Given the description of an element on the screen output the (x, y) to click on. 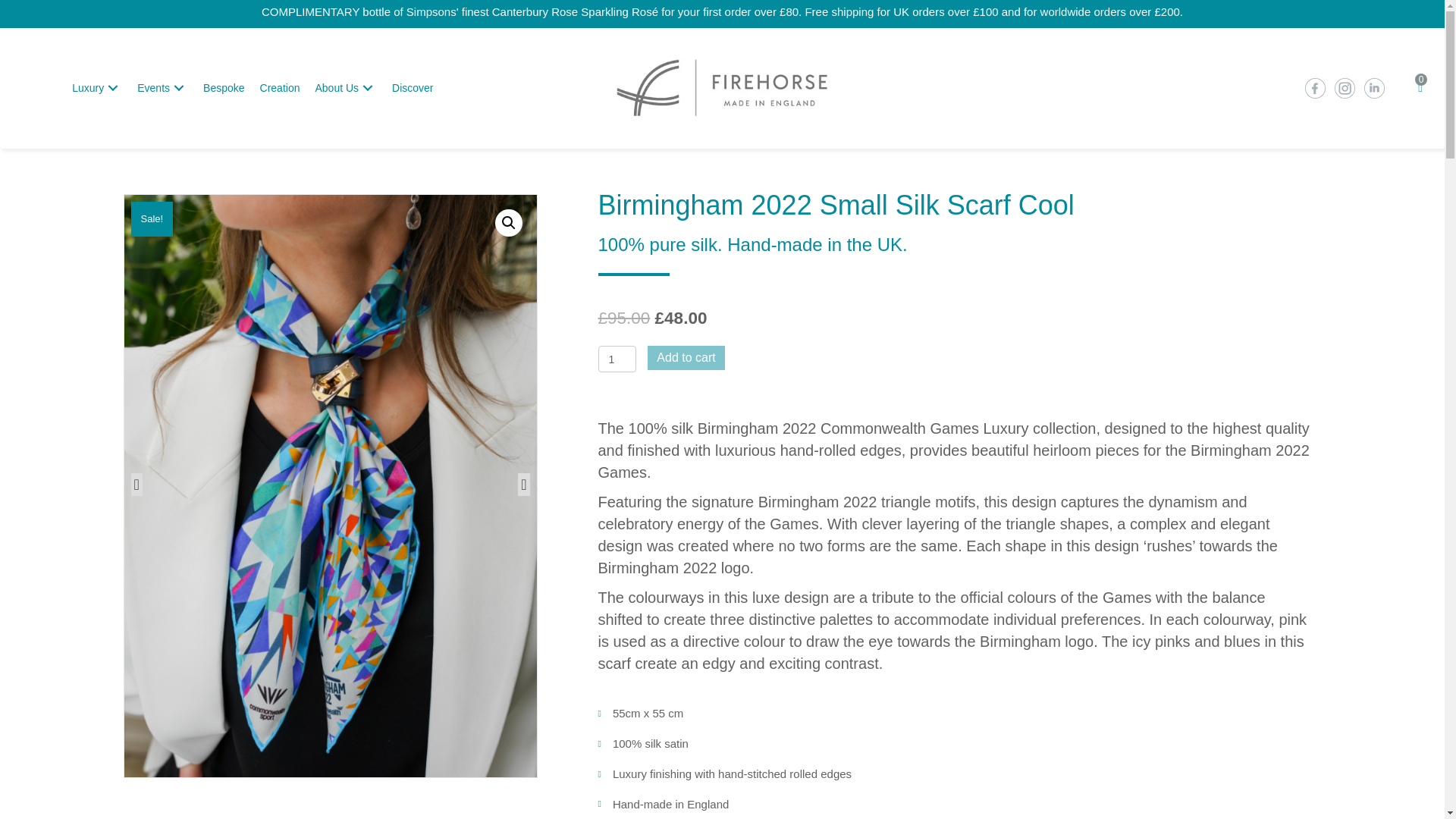
Firehorse-logo (721, 87)
1 (616, 358)
About Us (345, 87)
Creation (279, 87)
instagram (1344, 87)
Discover (412, 87)
Bespoke (223, 87)
Luxury (96, 87)
linkedin (1372, 87)
Add to cart (685, 357)
